Given the description of an element on the screen output the (x, y) to click on. 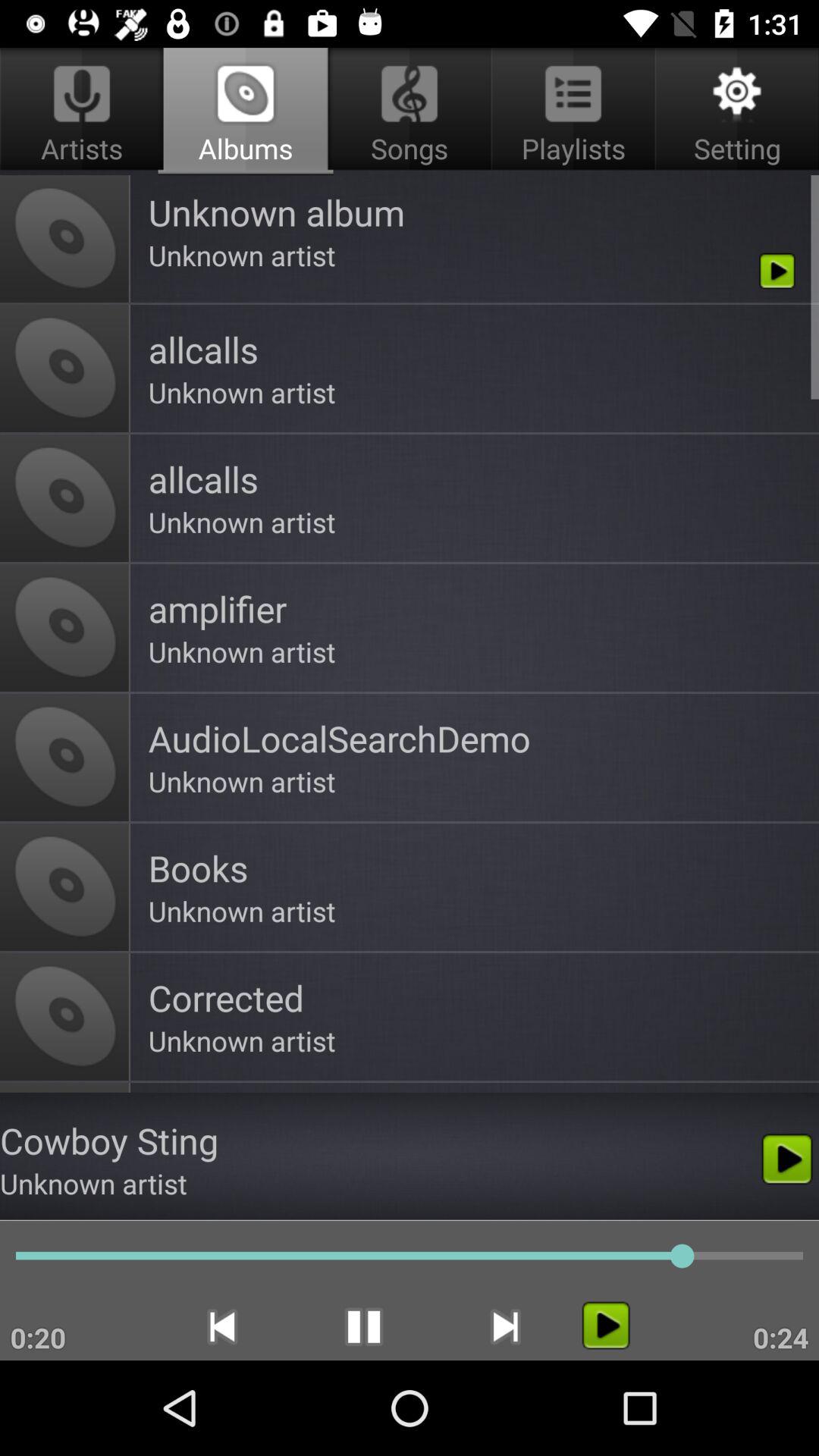
choose item next to the artists (409, 111)
